Given the description of an element on the screen output the (x, y) to click on. 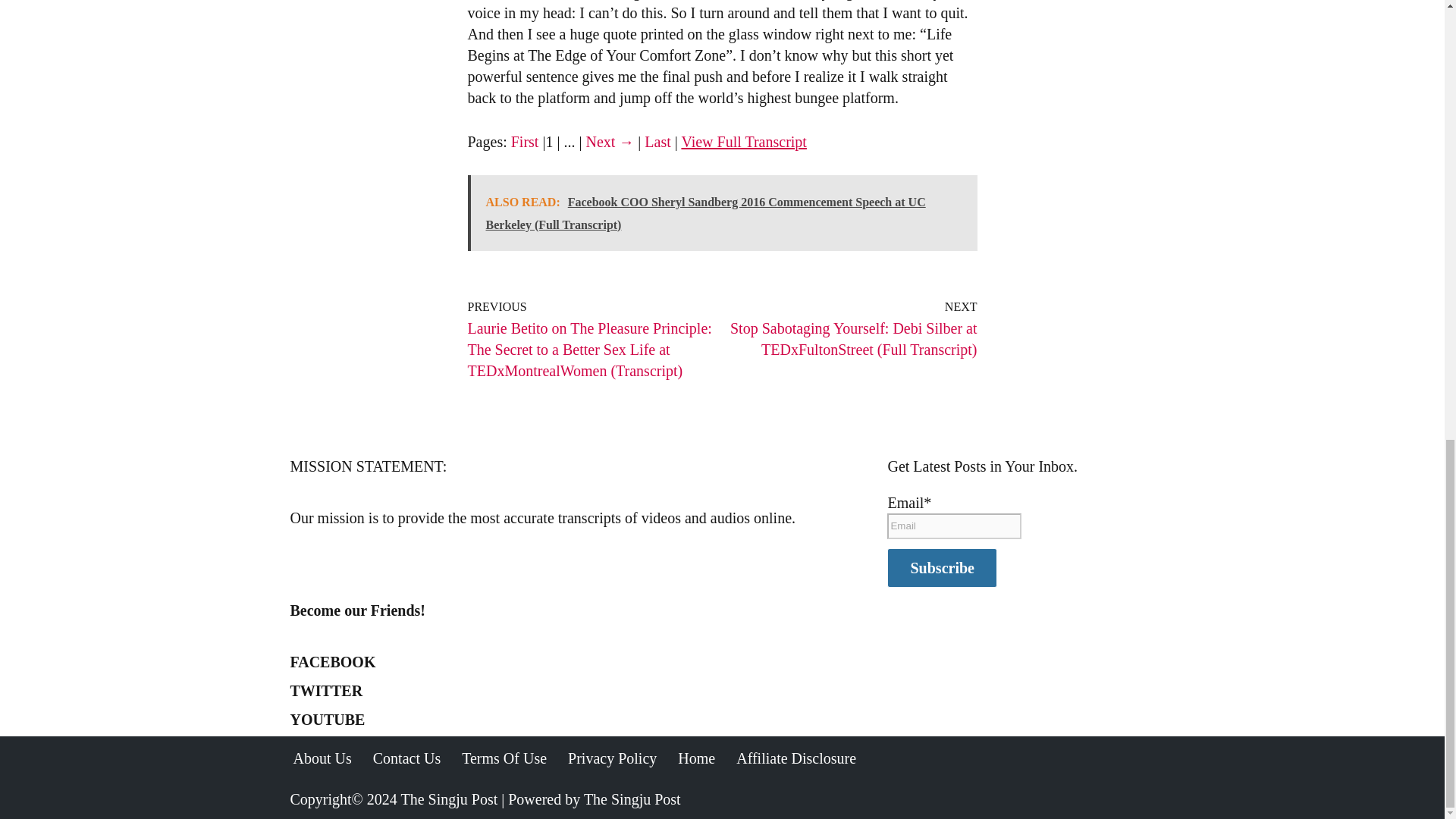
Subscribe (940, 567)
First (524, 141)
